Given the description of an element on the screen output the (x, y) to click on. 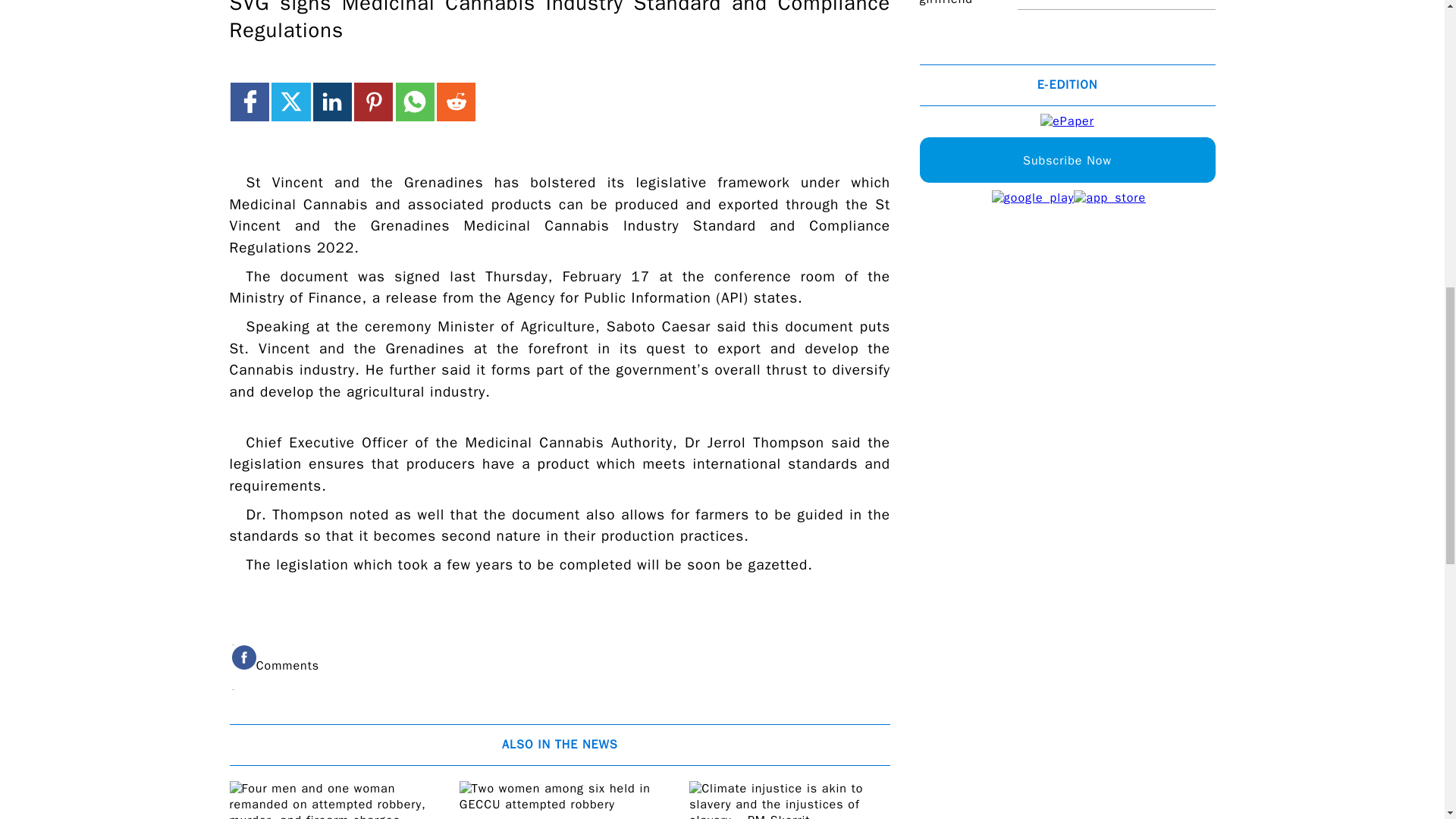
ePaper (1067, 121)
